Given the description of an element on the screen output the (x, y) to click on. 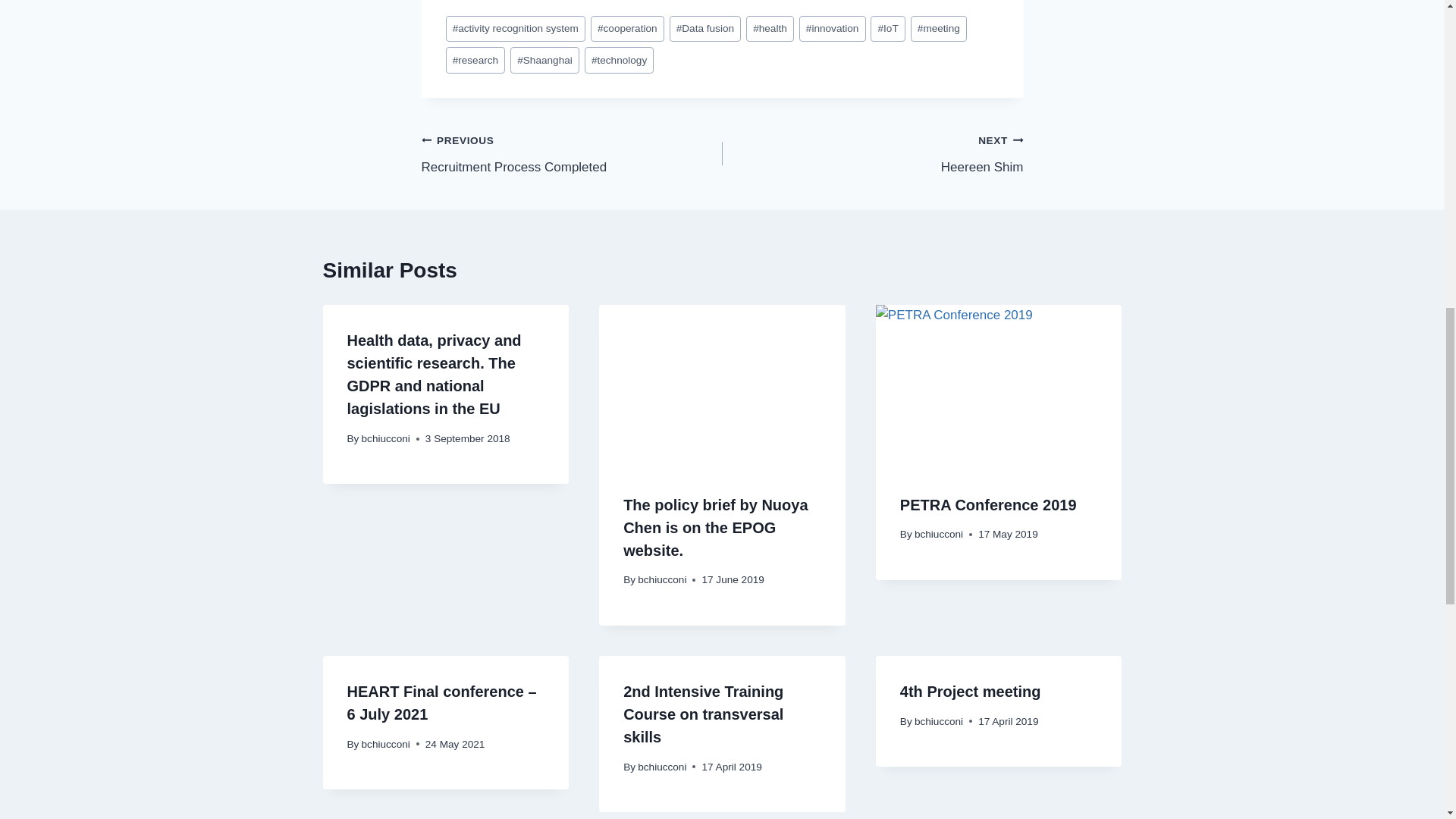
meeting (572, 153)
Shaanghai (938, 28)
technology (545, 59)
innovation (619, 59)
health (832, 28)
Data fusion (769, 28)
activity recognition system (705, 28)
bchiucconi (515, 28)
